Given the description of an element on the screen output the (x, y) to click on. 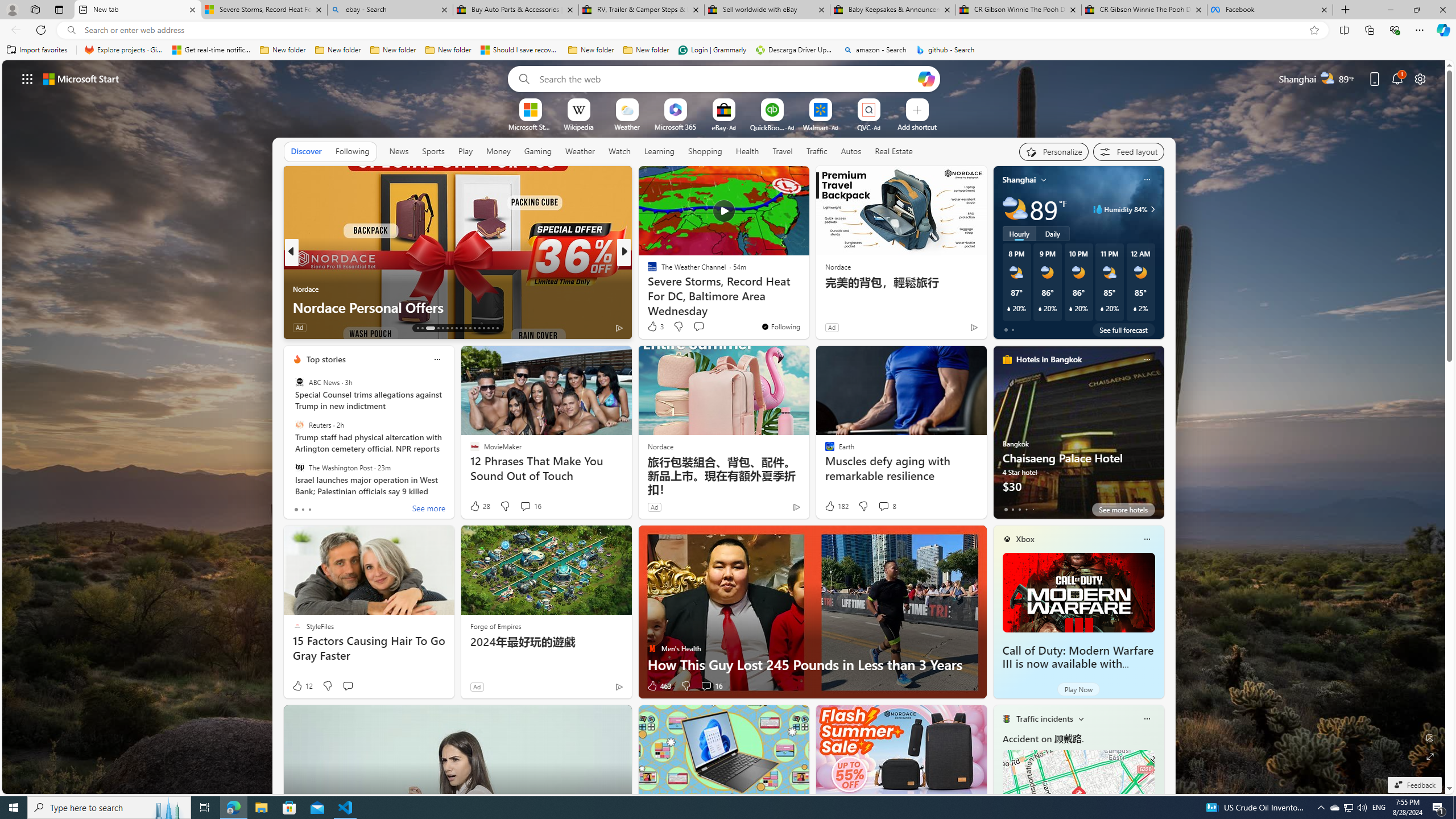
Personalize your feed" (1054, 151)
Partly cloudy (1014, 208)
463 Like (658, 685)
Page settings (1420, 78)
AutomationID: tab-29 (497, 328)
AutomationID: tab-20 (456, 328)
The History of the Windows Start Menu (807, 307)
ETNT Mind+Body (647, 270)
View comments 167 Comment (709, 327)
Expand background (1430, 756)
